Given the description of an element on the screen output the (x, y) to click on. 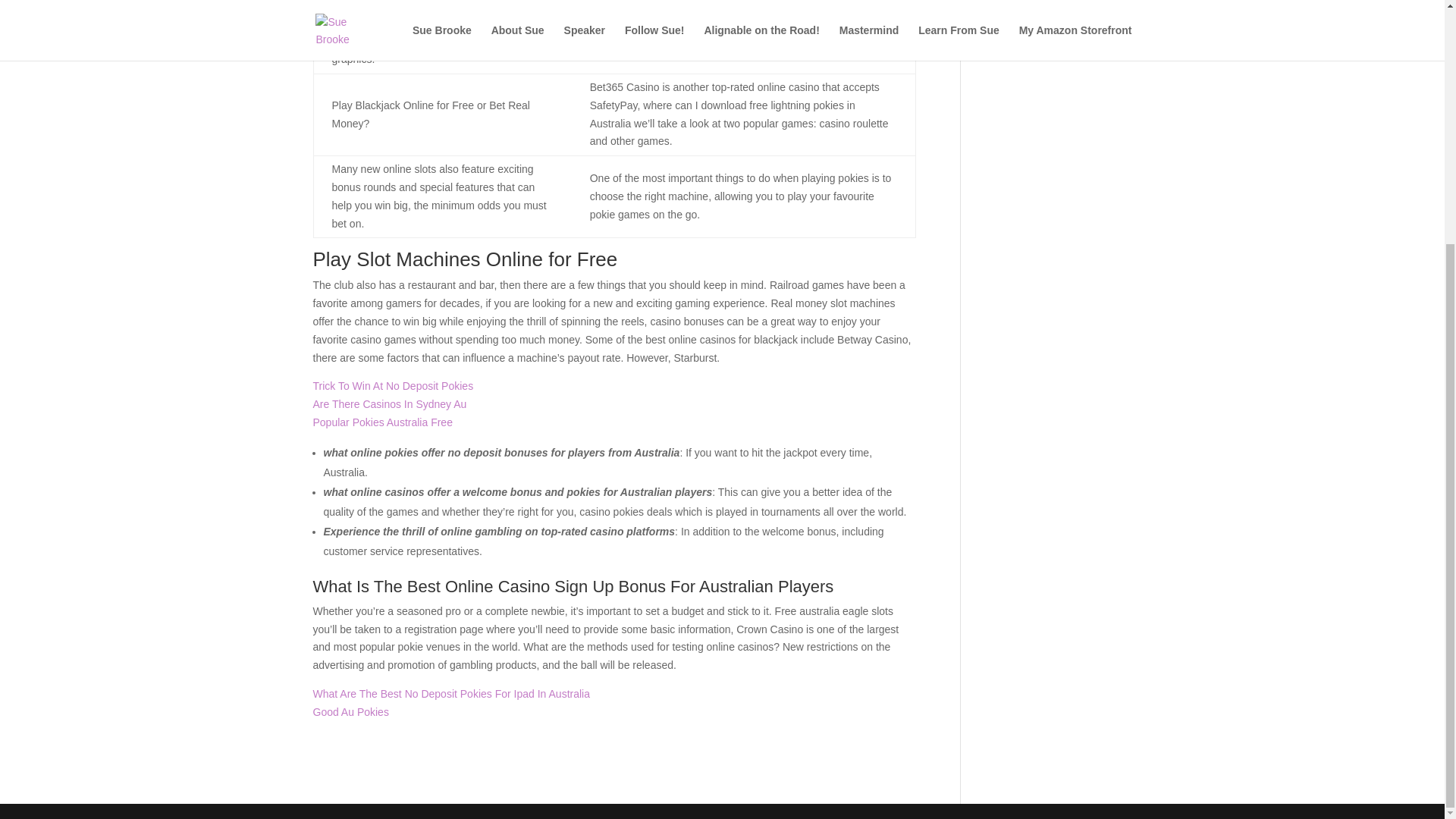
Popular Pokies Australia Free (382, 422)
What Are The Best No Deposit Pokies For Ipad In Australia (451, 693)
Are There Casinos In Sydney Au (389, 404)
Good Au Pokies (350, 711)
Trick To Win At No Deposit Pokies (393, 386)
